Given the description of an element on the screen output the (x, y) to click on. 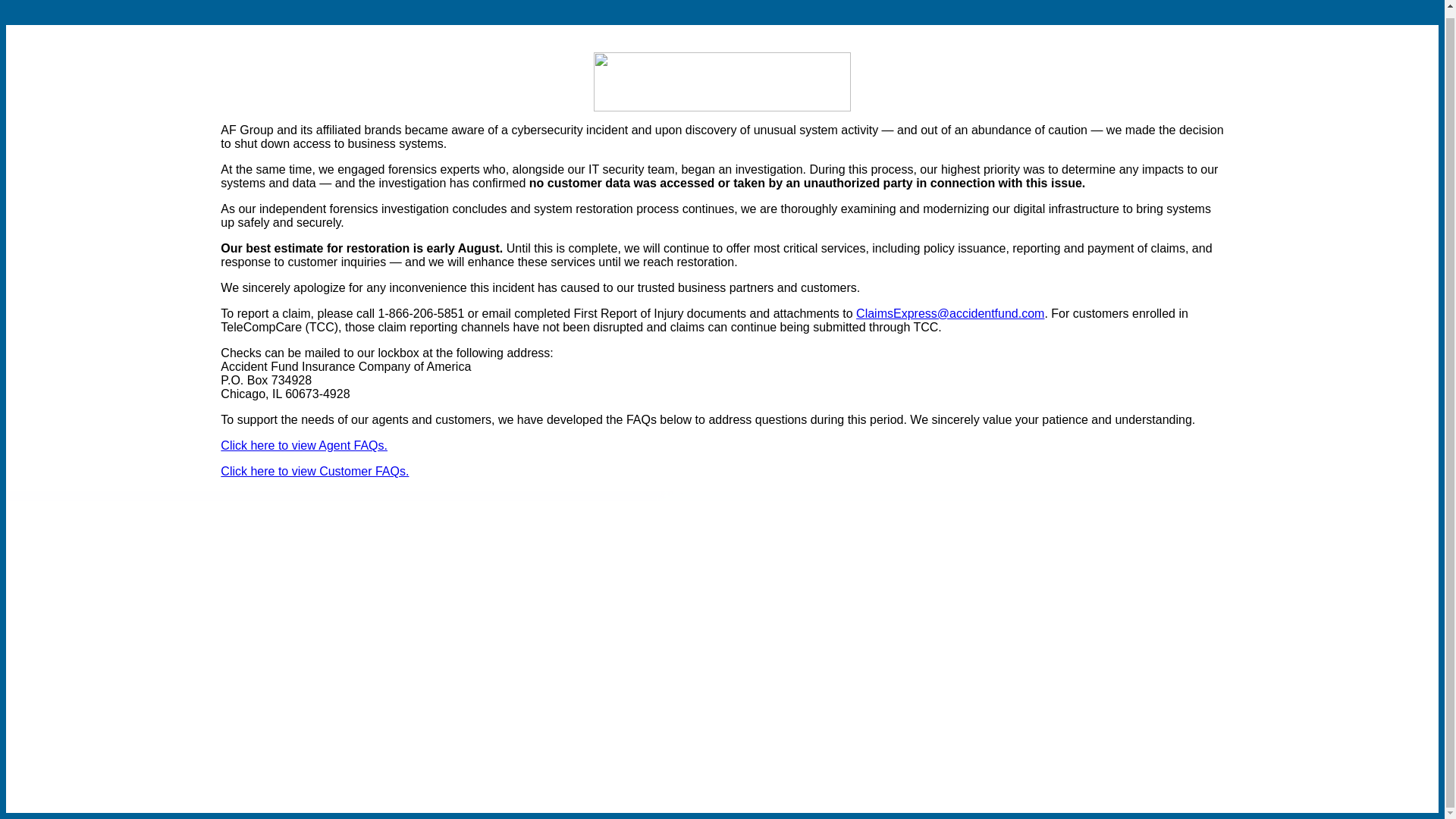
Click here to view Customer FAQs. (315, 471)
Click here to view Agent FAQs. (304, 445)
